Given the description of an element on the screen output the (x, y) to click on. 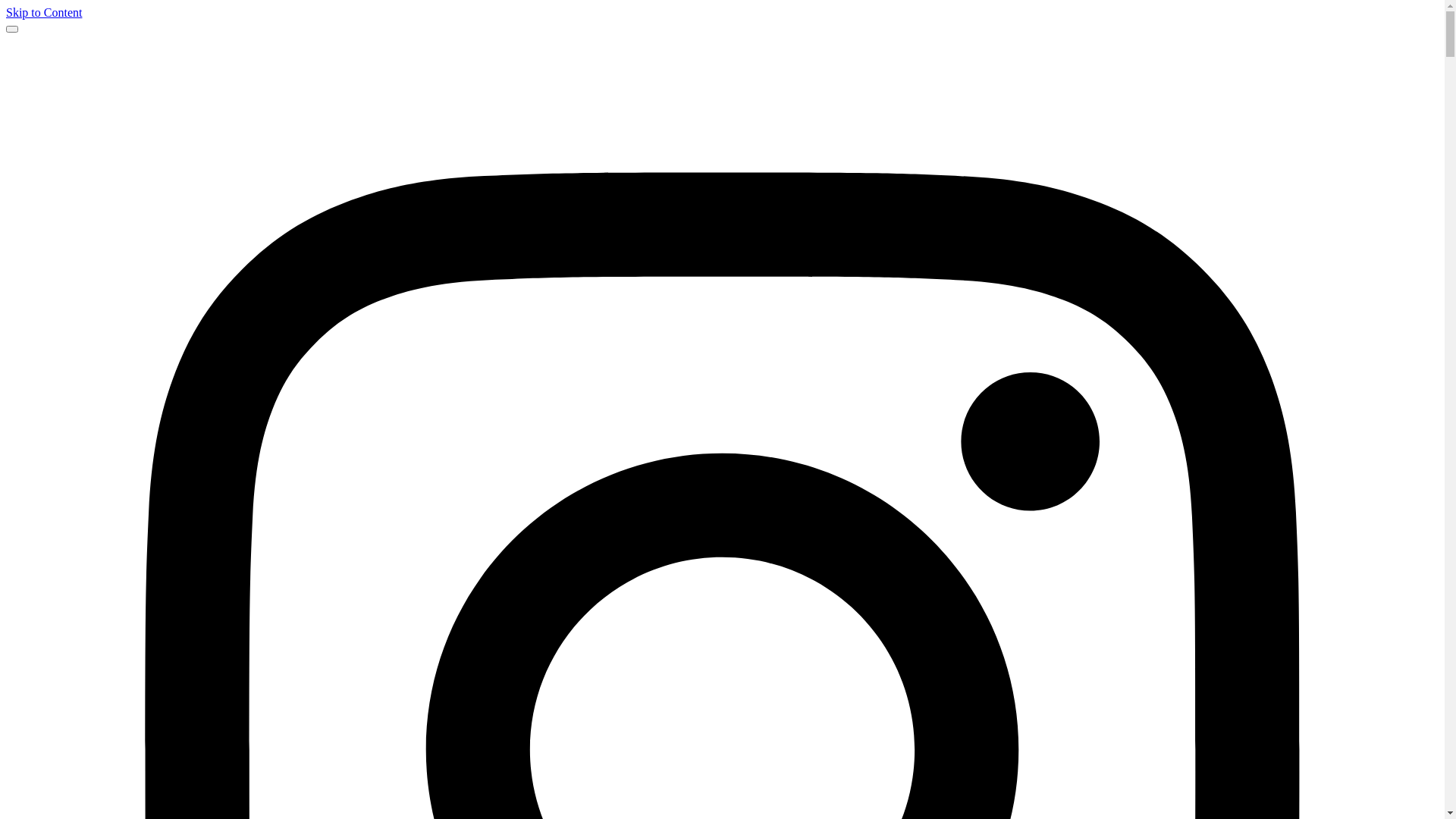
Skip to Content Element type: text (43, 12)
